Given the description of an element on the screen output the (x, y) to click on. 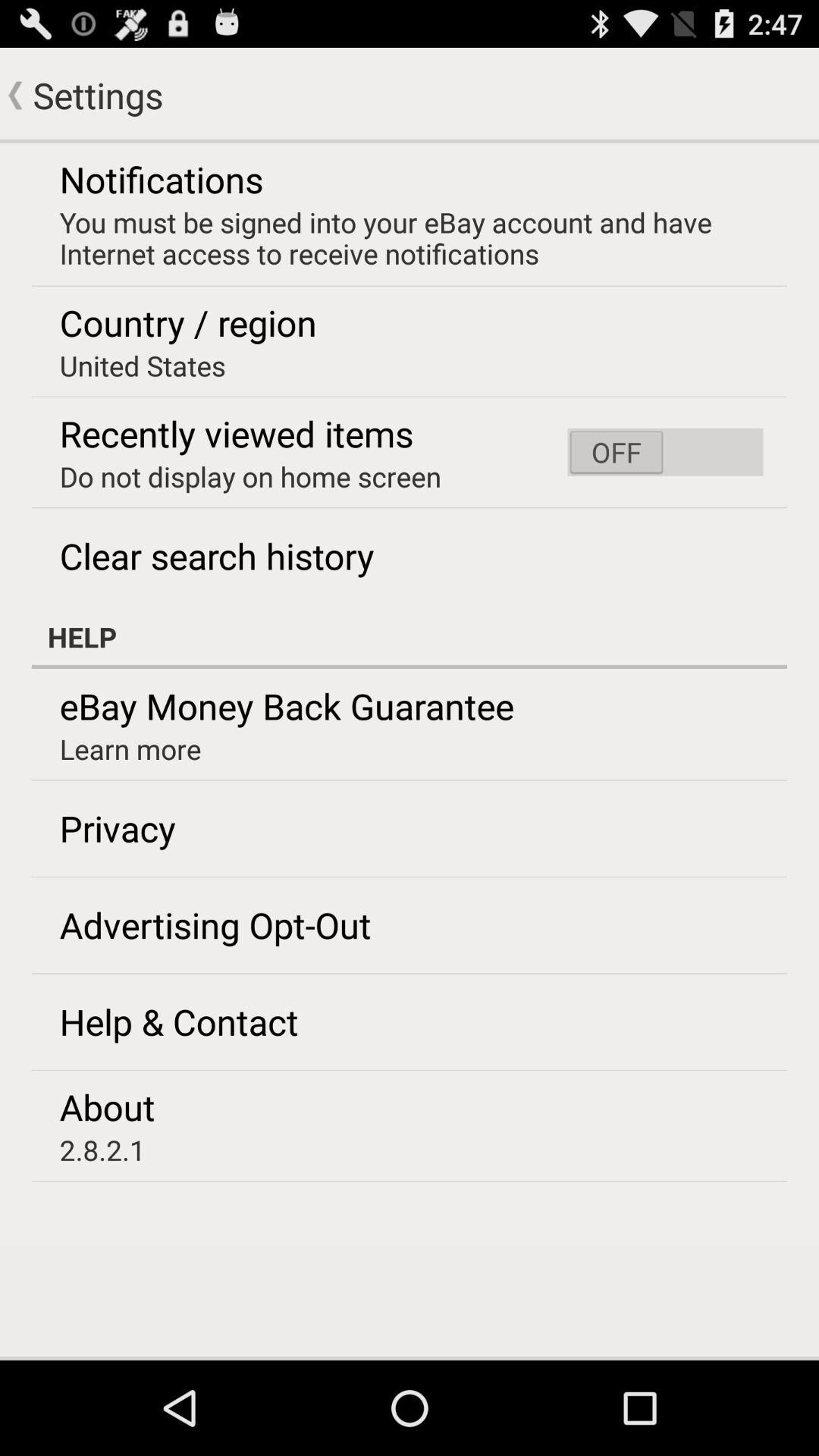
press item above the clear search history (250, 476)
